Given the description of an element on the screen output the (x, y) to click on. 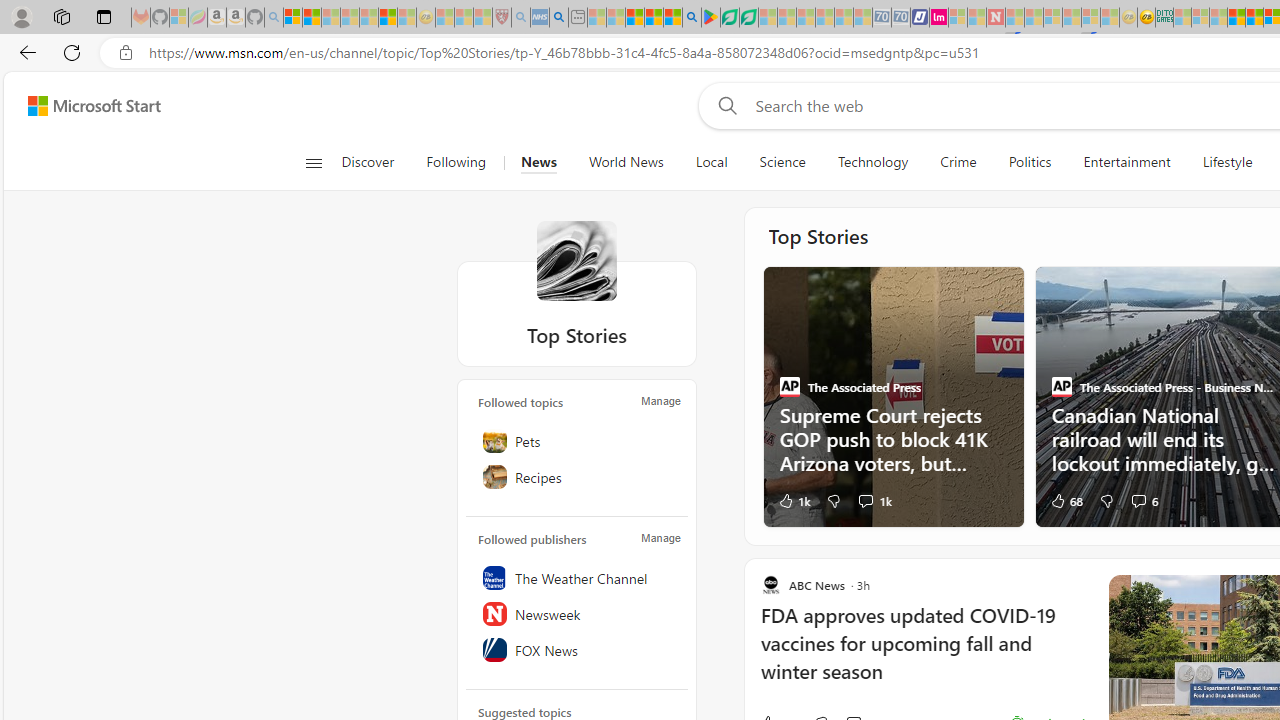
View comments 1k Comment (873, 500)
Microsoft Word - consumer-privacy address update 2.2021 (748, 17)
